Given the description of an element on the screen output the (x, y) to click on. 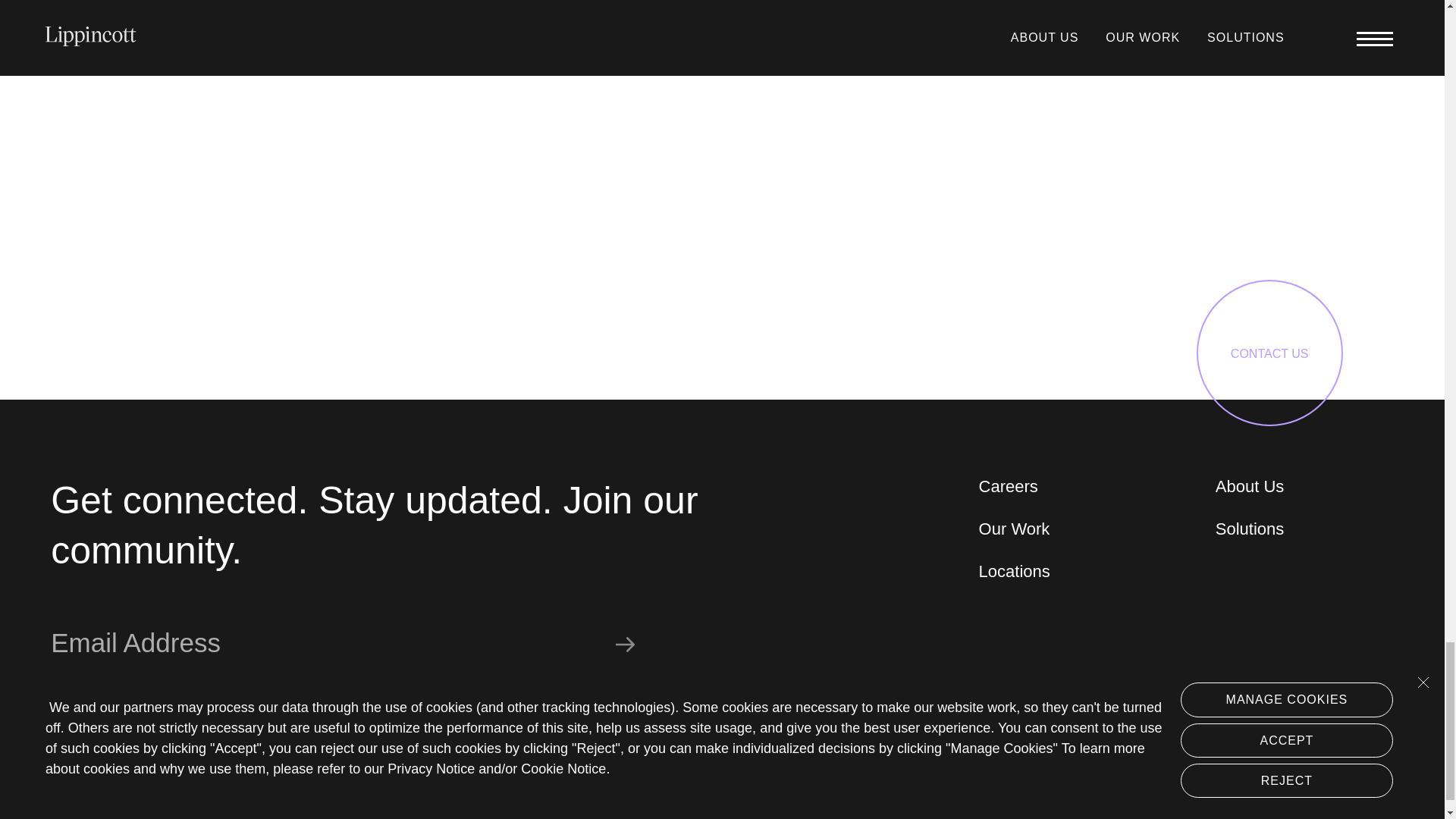
on (57, 698)
